Given the description of an element on the screen output the (x, y) to click on. 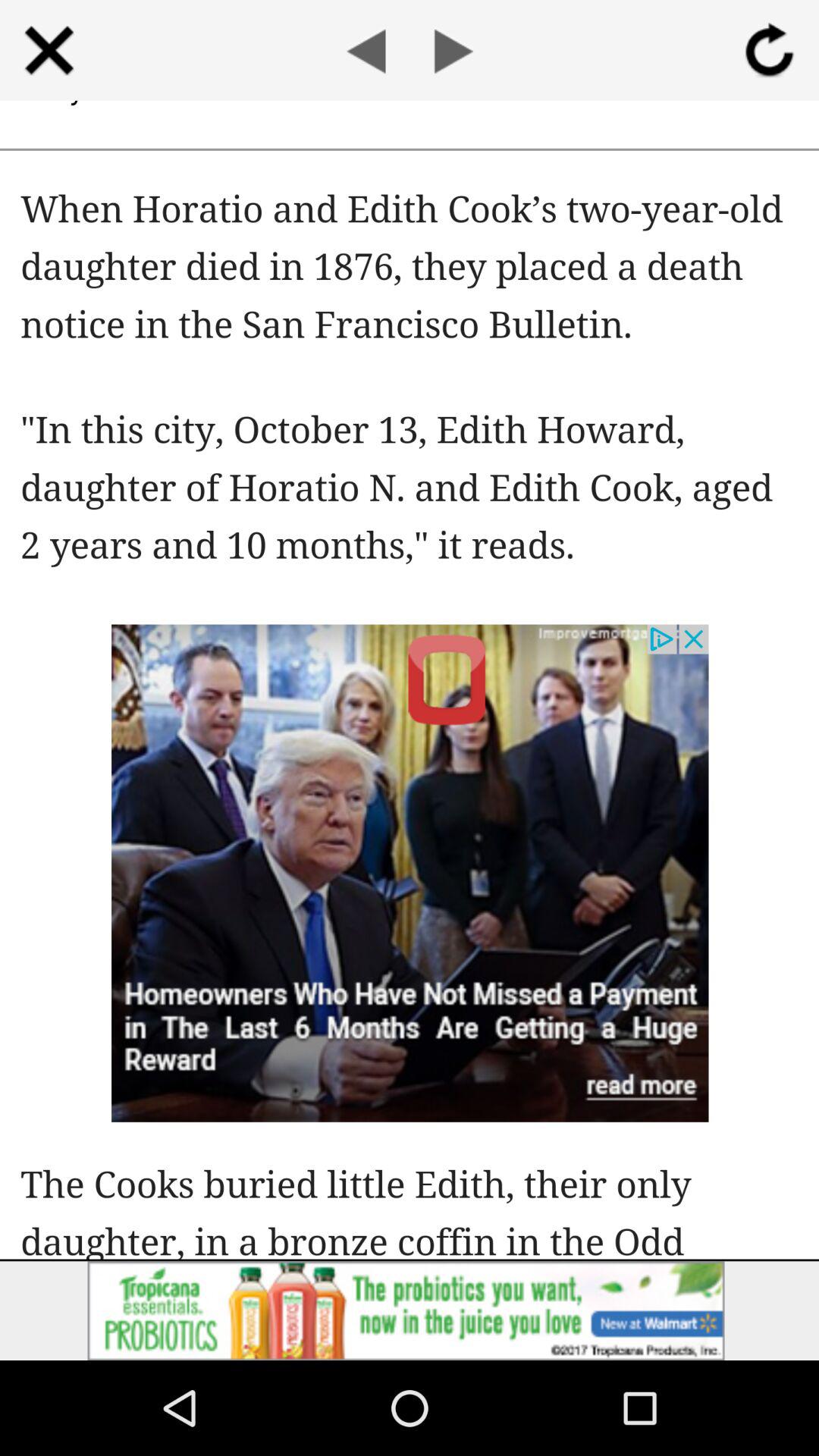
refresh the page (769, 49)
